Given the description of an element on the screen output the (x, y) to click on. 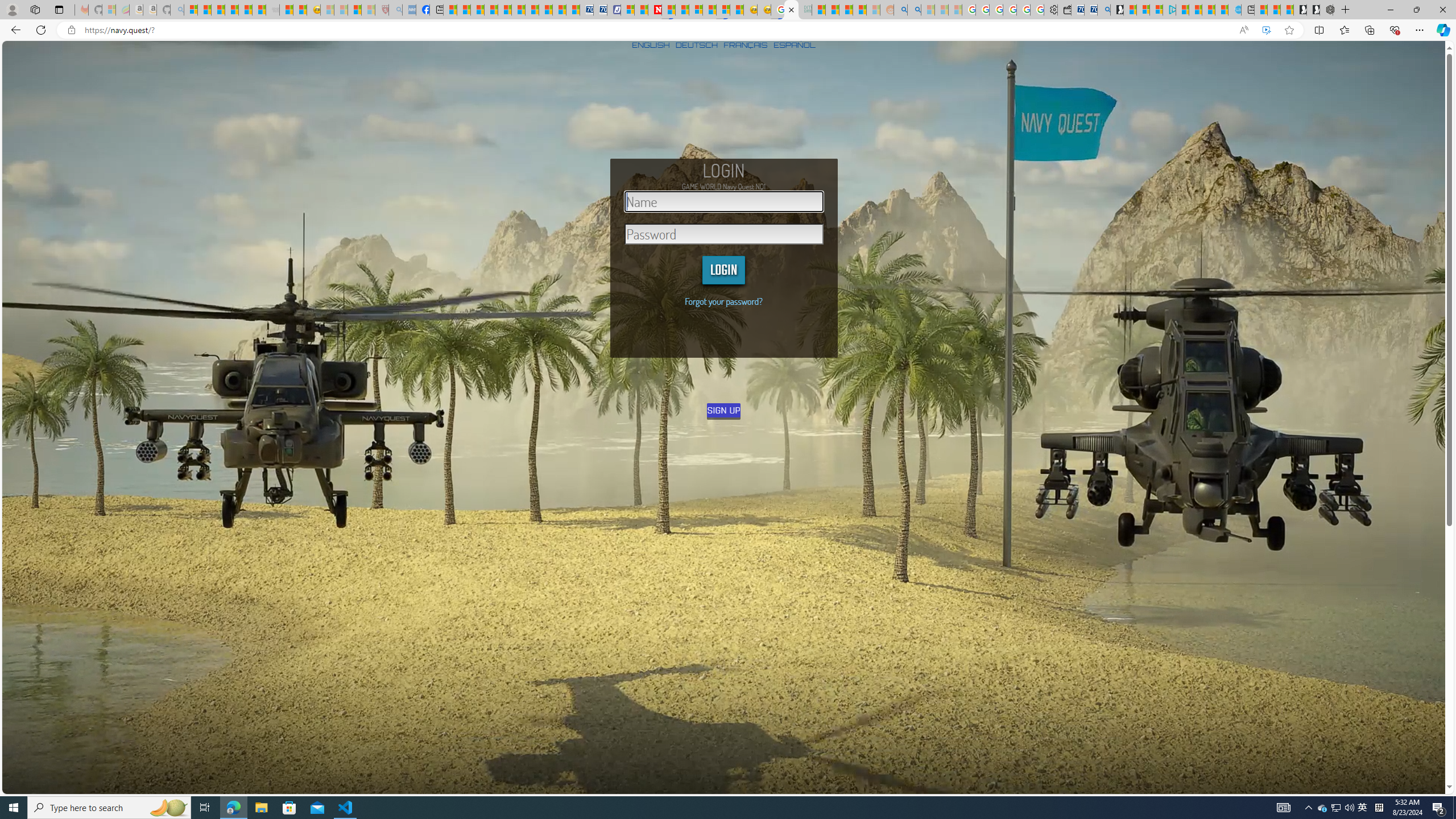
The Weather Channel - MSN (218, 9)
Forgot your password? (723, 301)
12 Popular Science Lies that Must be Corrected - Sleeping (368, 9)
